Given the description of an element on the screen output the (x, y) to click on. 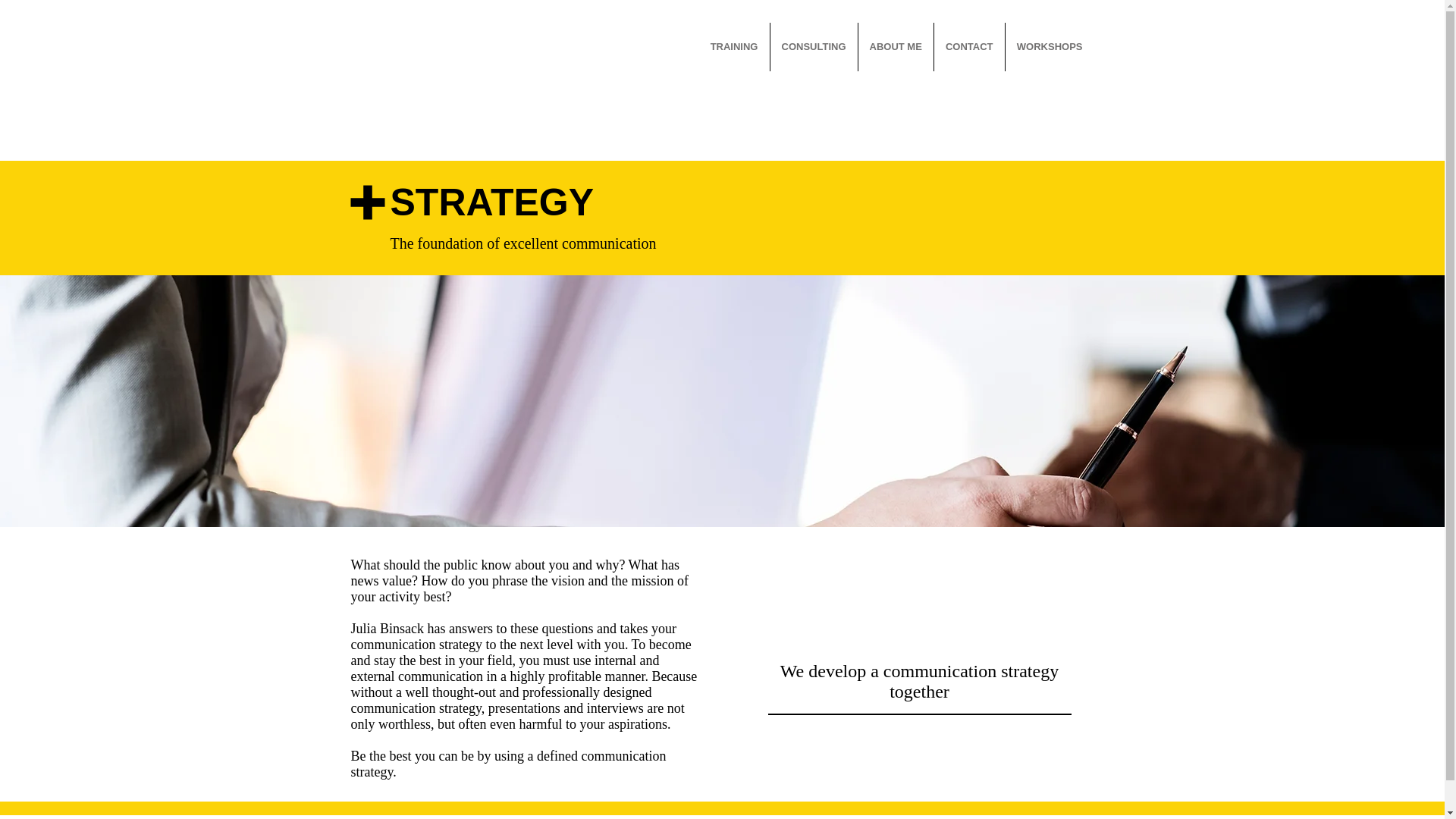
CONTACT (969, 46)
ABOUT ME (896, 46)
WORKSHOPS (1050, 46)
